Given the description of an element on the screen output the (x, y) to click on. 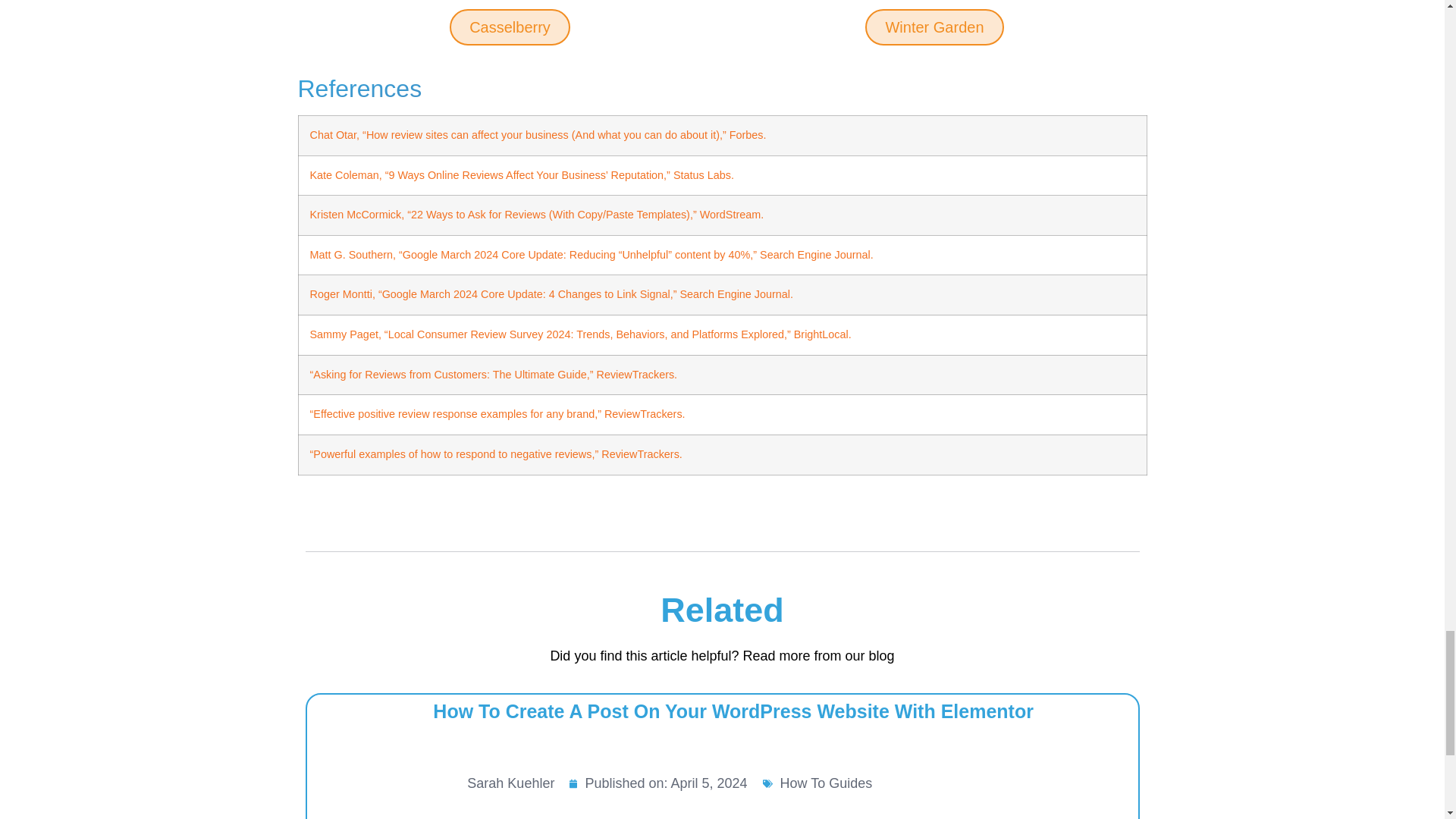
Winter Garden (933, 27)
Casselberry (509, 27)
Sarah Kuehler (493, 773)
